Given the description of an element on the screen output the (x, y) to click on. 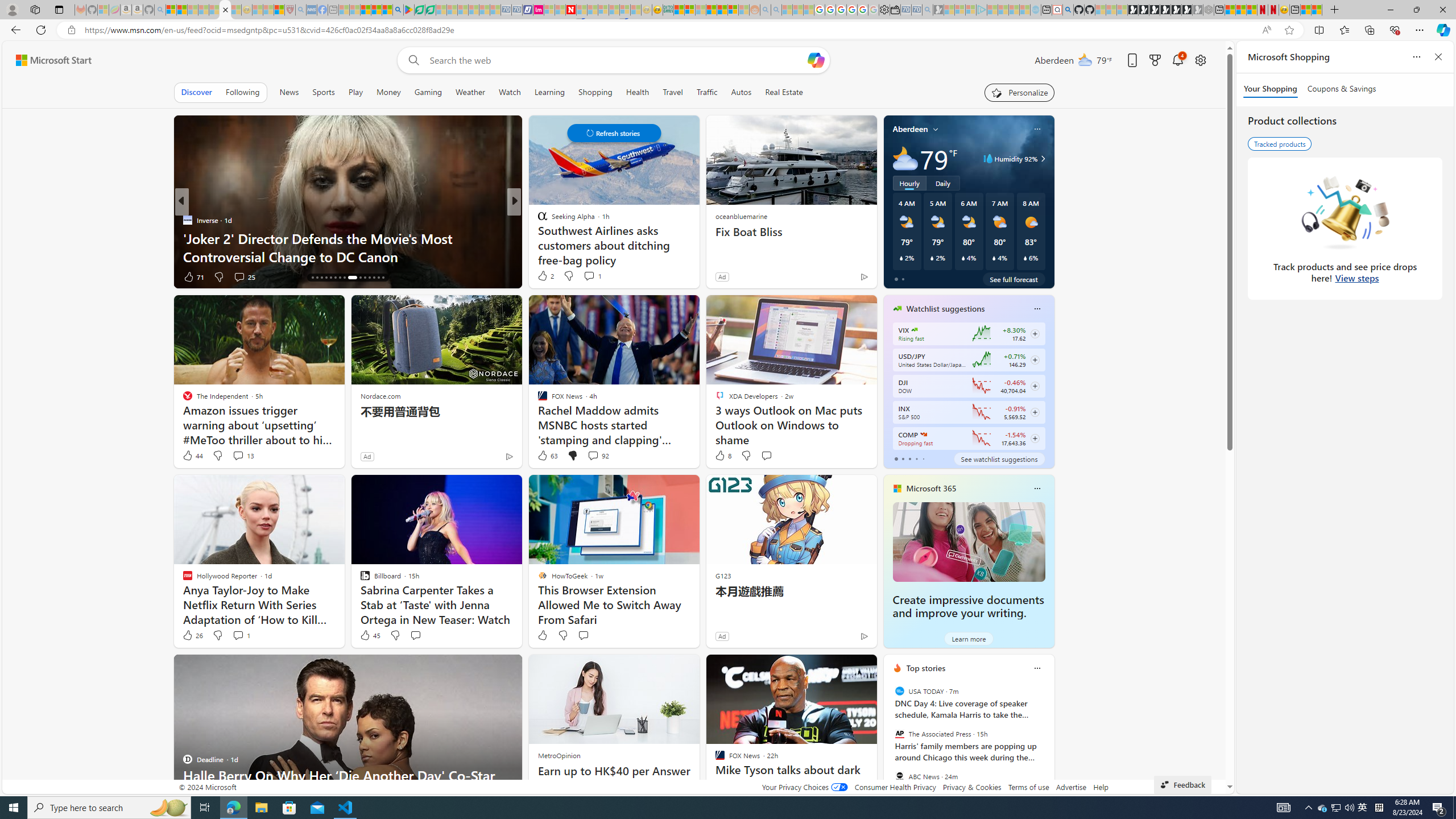
Play Free Online Games | Games from Microsoft Start (1132, 9)
119 Like (545, 276)
Microsoft Start (53, 60)
See full forecast (1013, 278)
14 Common Myths Debunked By Scientific Facts - Sleeping (592, 9)
Like (542, 634)
16 Like (543, 276)
Microsoft account | Privacy (689, 9)
Play Cave FRVR in your browser | Games from Microsoft Start (1154, 9)
Health (637, 92)
Fix Boat Bliss (790, 232)
